Given the description of an element on the screen output the (x, y) to click on. 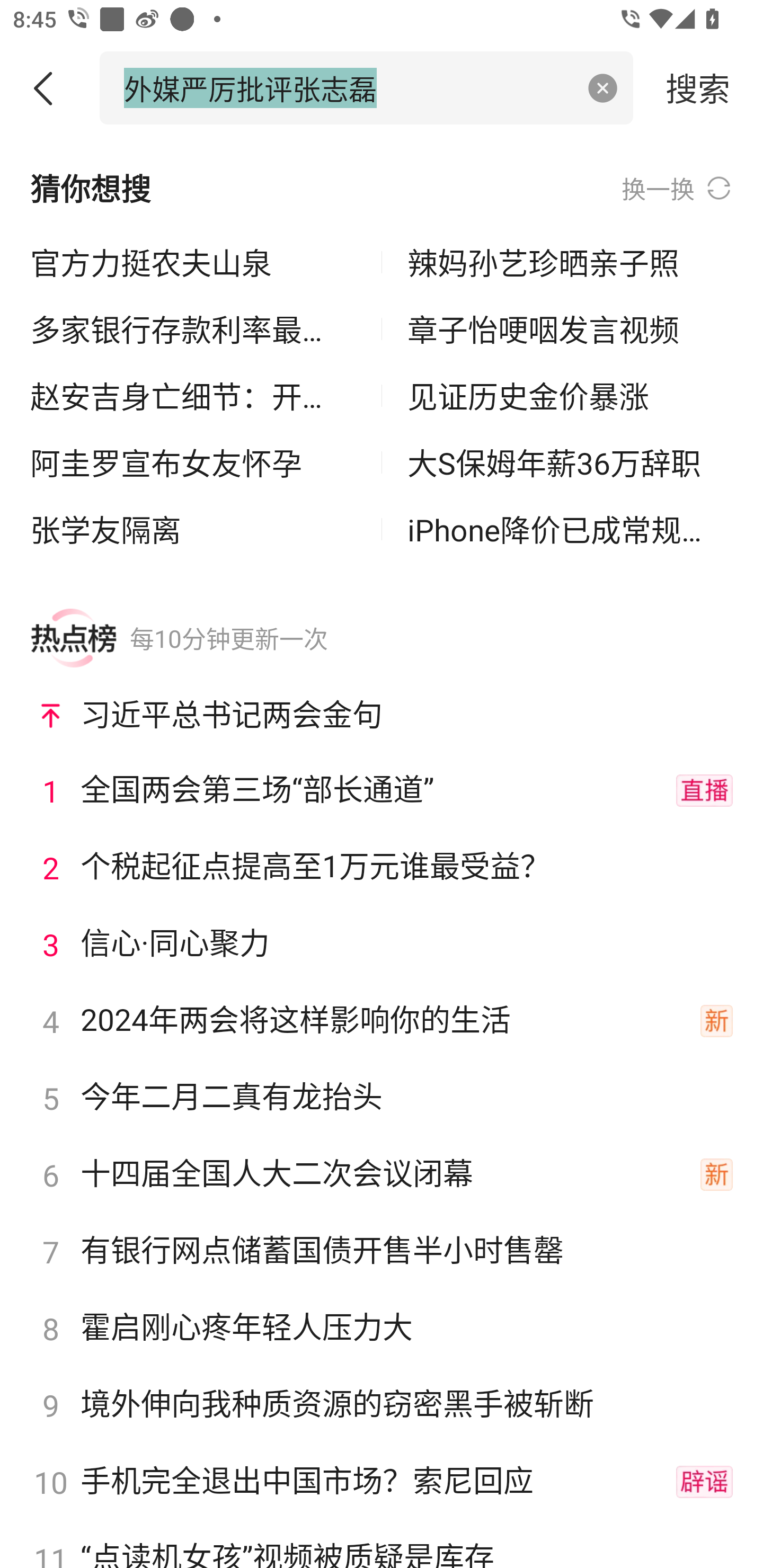
返回 (49, 87)
搜索 (698, 87)
外媒严厉批评张志磊 (347, 87)
清空 (602, 88)
换一换 (676, 187)
官方力挺农夫山泉 (193, 262)
辣妈孙艺珍晒亲子照 (569, 262)
多家银行存款利率最高达10% (193, 329)
章子怡哽咽发言视频 (569, 329)
赵安吉身亡细节：开特斯拉操作失误 (193, 395)
见证历史金价暴涨 (569, 395)
阿圭罗宣布女友怀孕 (193, 462)
大S保姆年薪36万辞职 (569, 462)
张学友隔离 (193, 528)
iPhone降价已成常规促销手段 (569, 528)
